Given the description of an element on the screen output the (x, y) to click on. 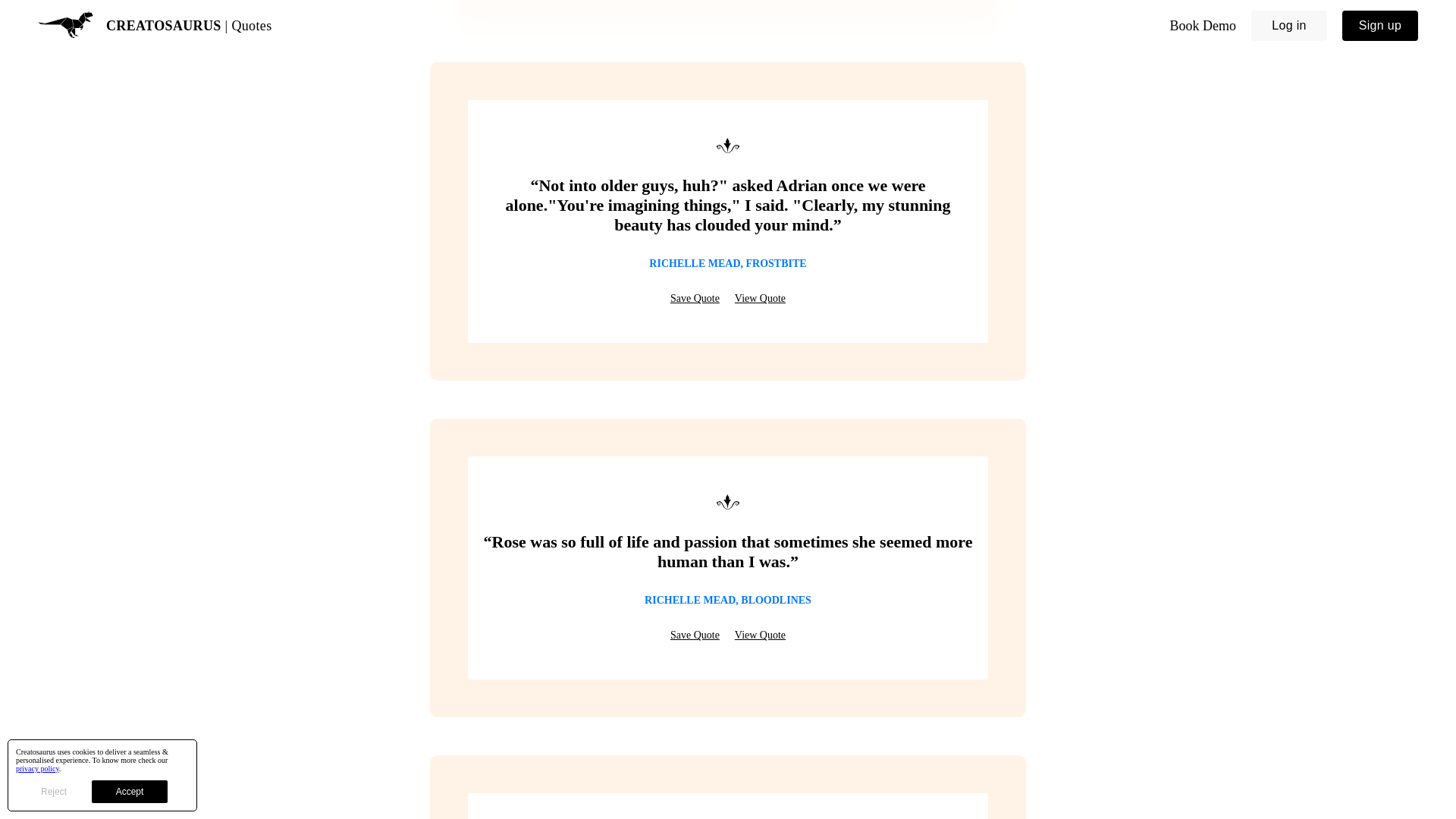
RICHELLE MEAD, BLOODLINES (727, 600)
RICHELLE MEAD, FROSTBITE (727, 263)
View Quote (760, 298)
View Quote (760, 635)
